Given the description of an element on the screen output the (x, y) to click on. 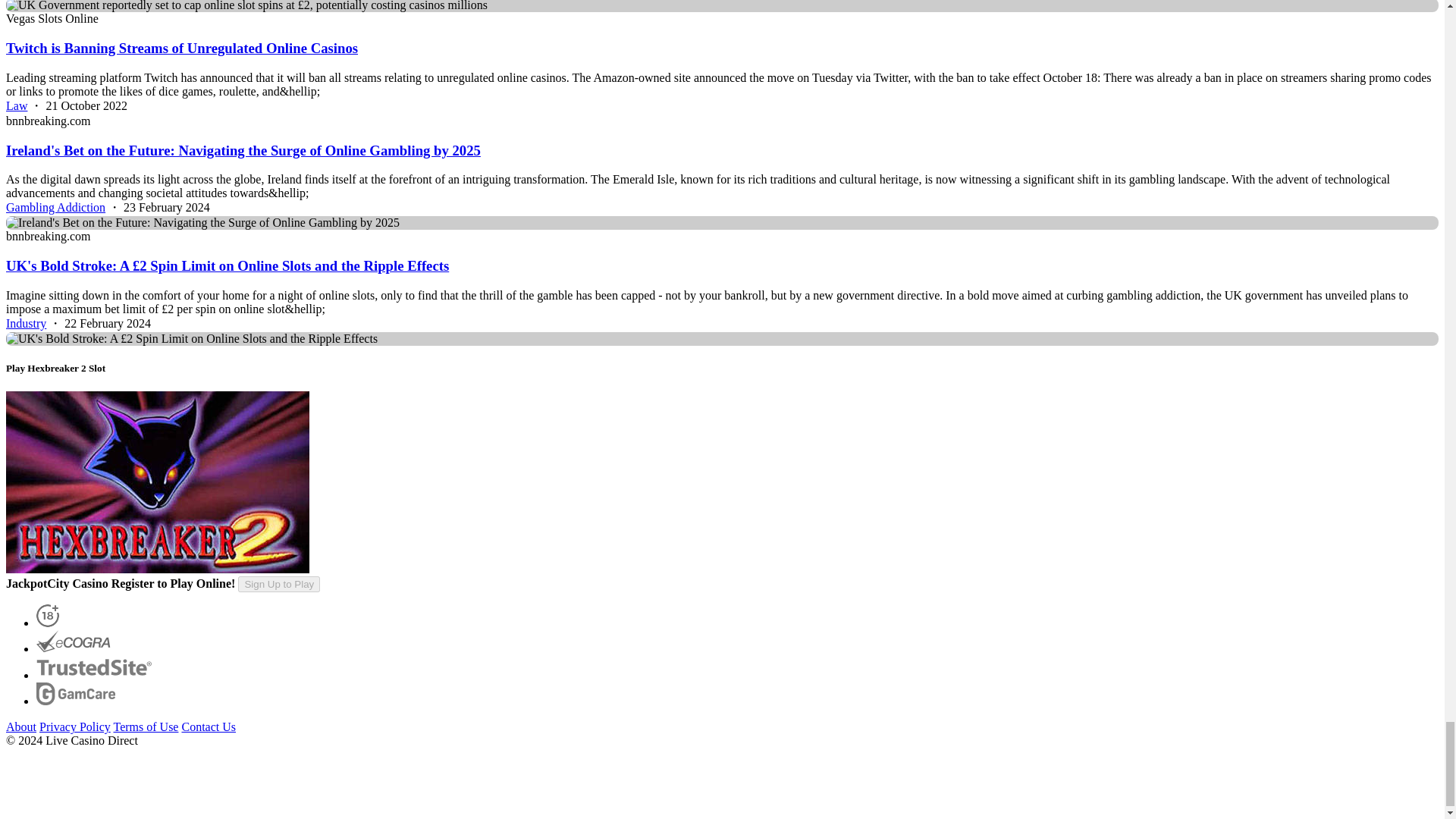
Slot Game of the Month: Hexbreaker 2 Slot (156, 482)
